Given the description of an element on the screen output the (x, y) to click on. 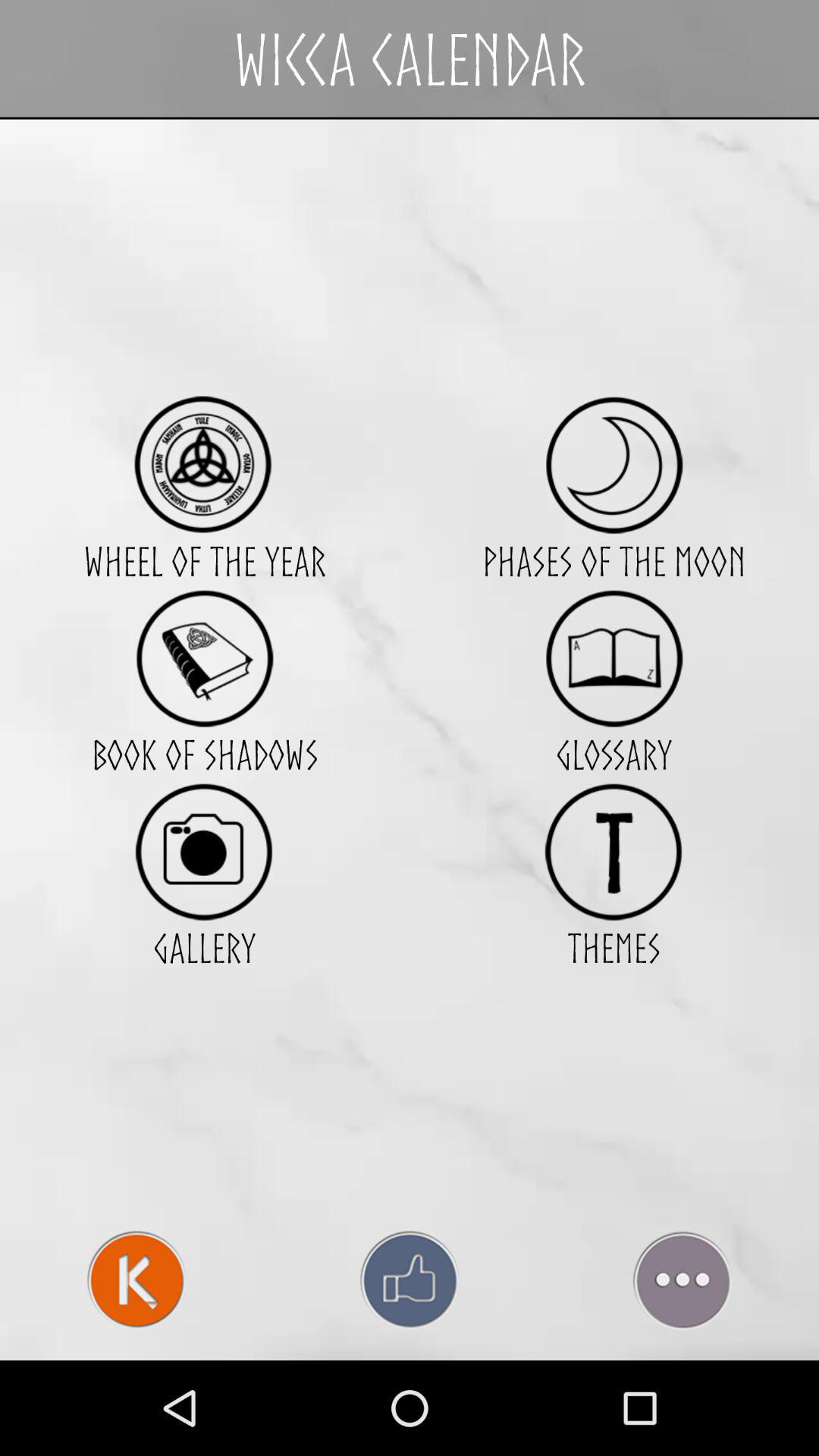
select book of shadow (204, 658)
